Given the description of an element on the screen output the (x, y) to click on. 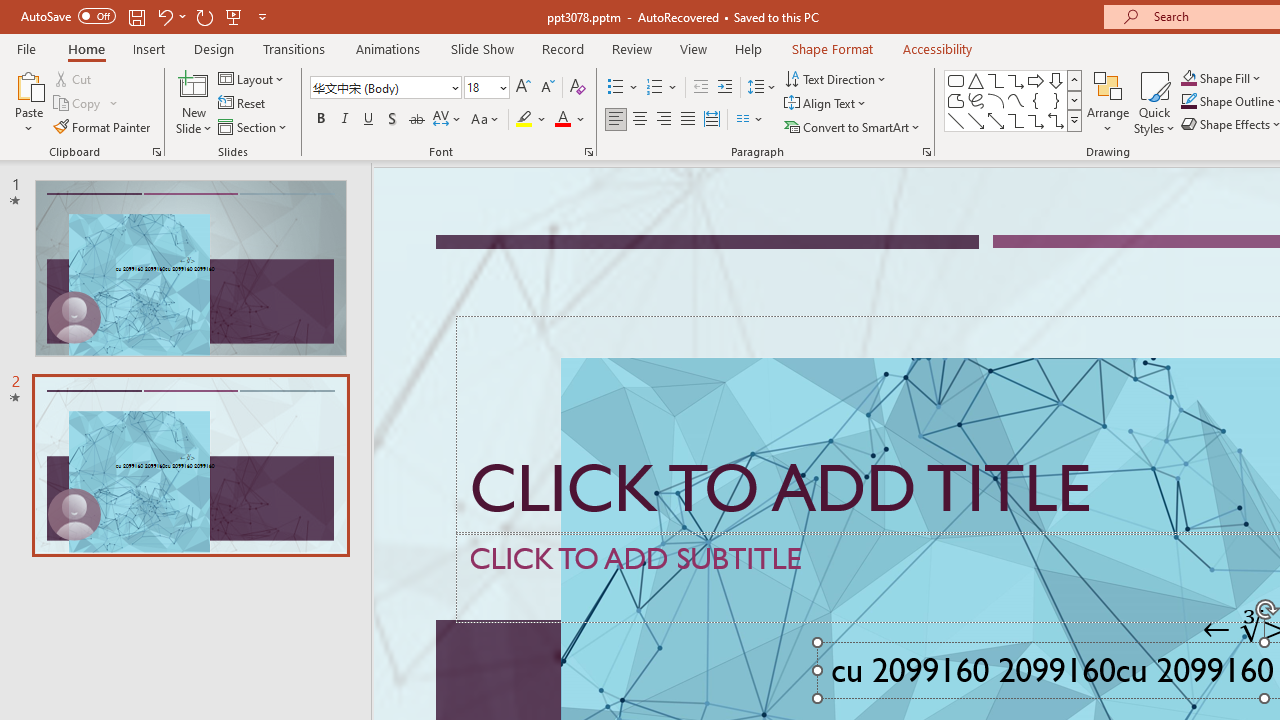
Shape Fill Dark Green, Accent 2 (1188, 78)
